Given the description of an element on the screen output the (x, y) to click on. 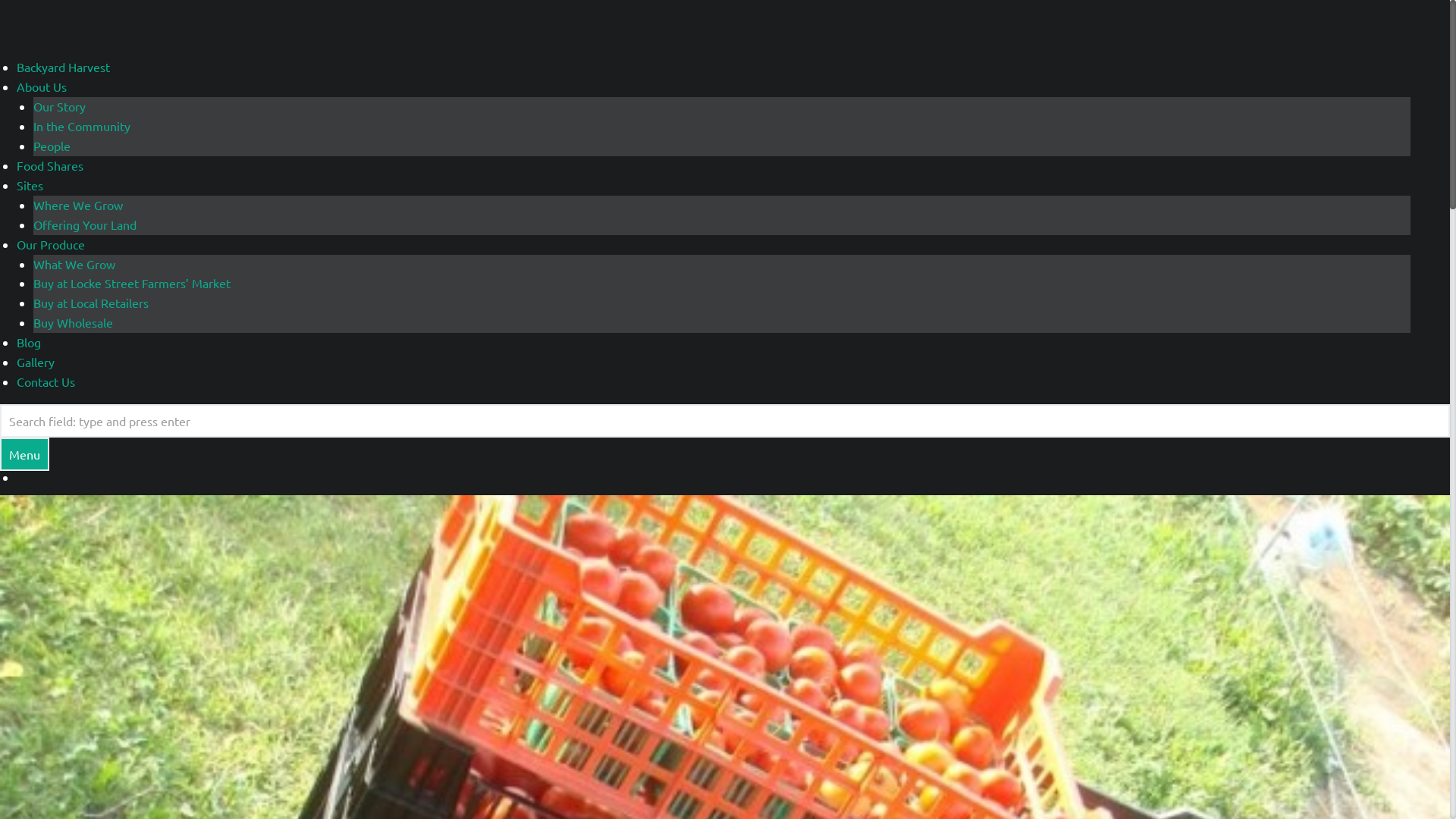
Contact Us Element type: text (45, 381)
Sites Element type: text (29, 184)
August Harvest Element type: hover (724, 503)
Our Produce Element type: text (50, 243)
Our Story Element type: text (59, 105)
Food Shares Element type: text (49, 164)
Blog Element type: text (28, 341)
Menu Element type: text (24, 453)
Buy at Local Retailers Element type: text (90, 302)
About Us Element type: text (41, 86)
People Element type: text (51, 145)
Offering Your Land Element type: text (84, 224)
In the Community Element type: text (81, 125)
Buy Wholesale Element type: text (72, 321)
Backyard Harvest Element type: text (62, 66)
Where We Grow Element type: text (77, 204)
What We Grow Element type: text (74, 263)
Gallery Element type: text (35, 361)
